Given the description of an element on the screen output the (x, y) to click on. 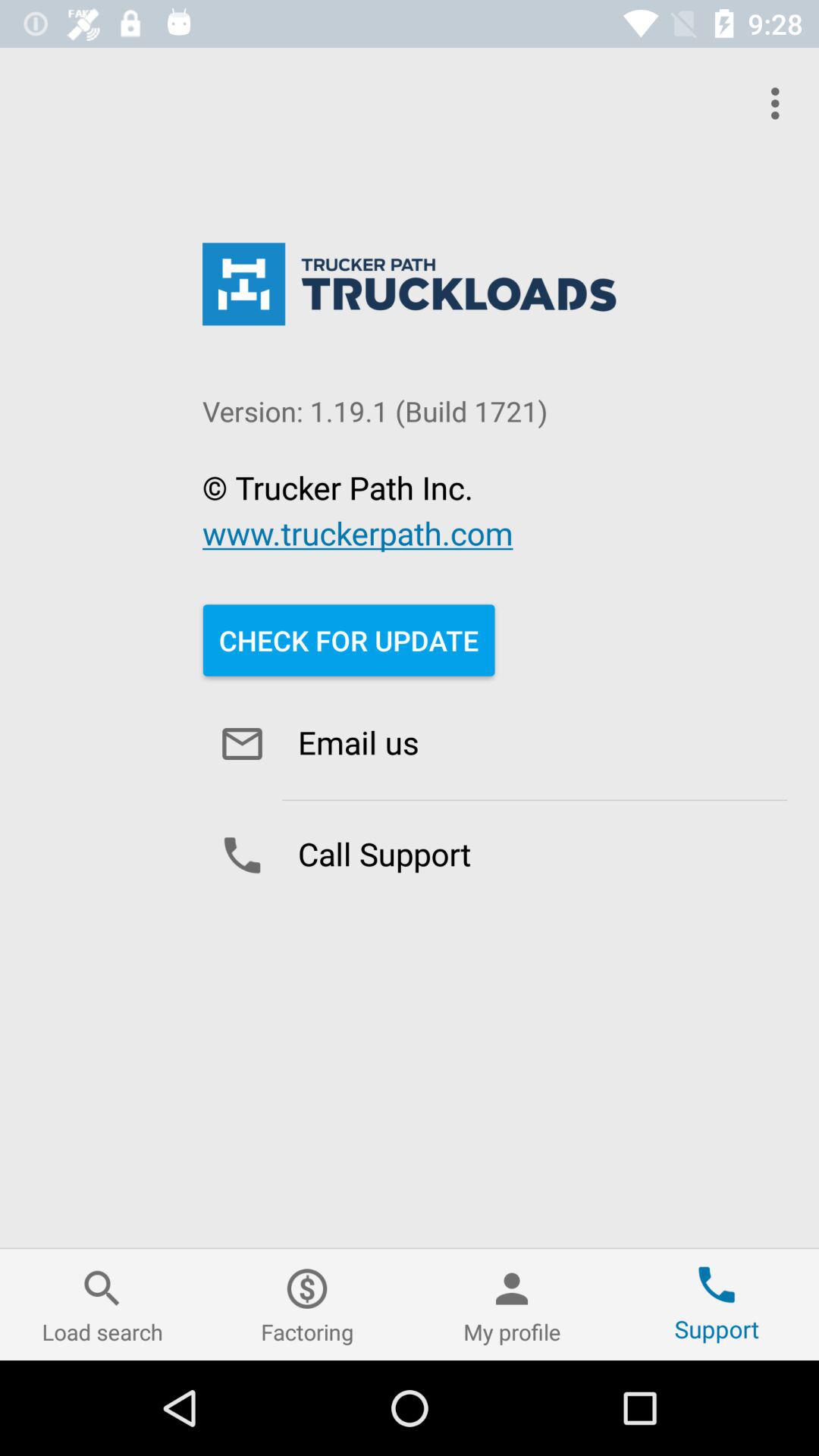
click the icon at the bottom left corner (102, 1304)
